Given the description of an element on the screen output the (x, y) to click on. 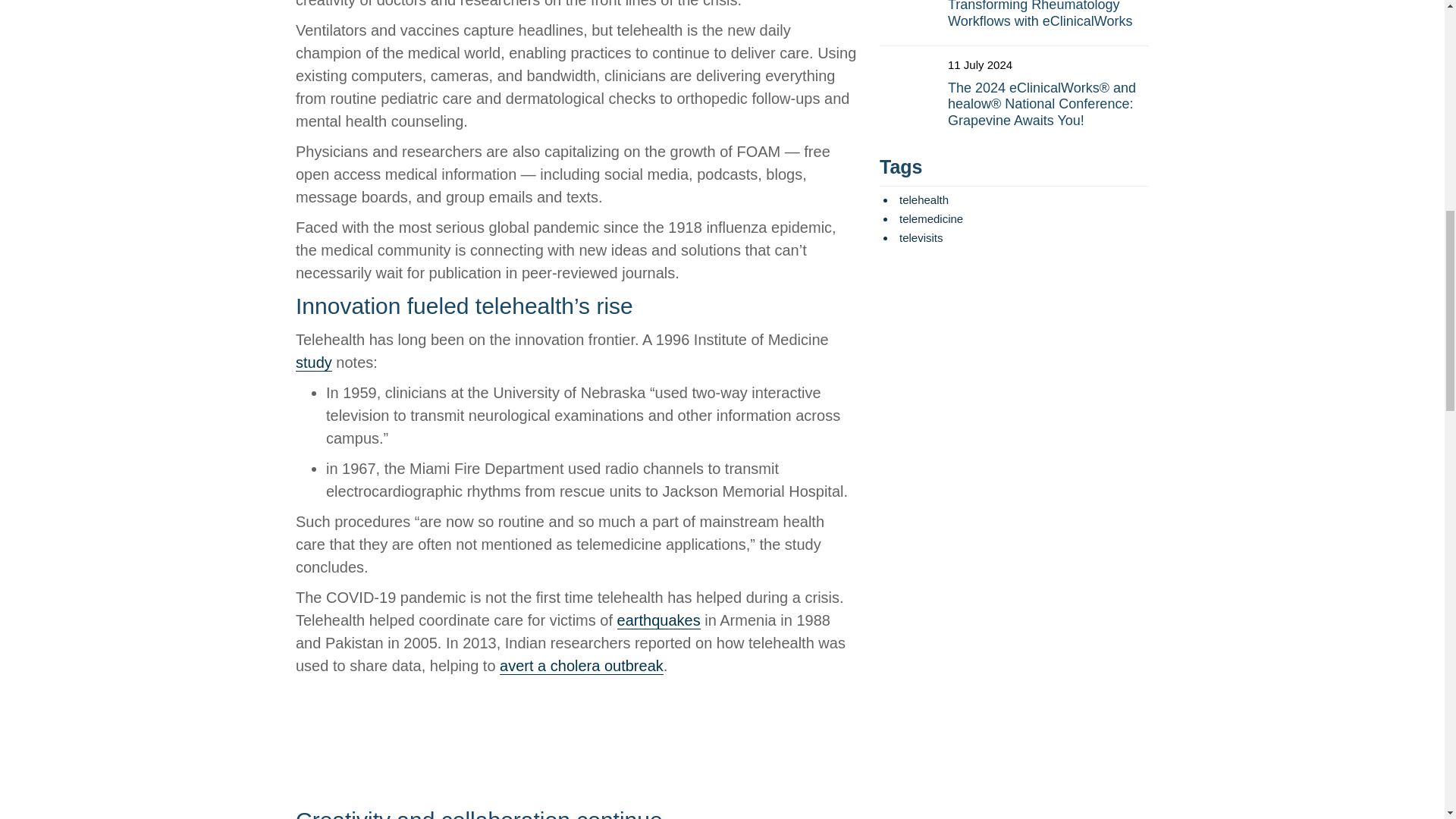
study (313, 362)
earthquakes (658, 620)
